Given the description of an element on the screen output the (x, y) to click on. 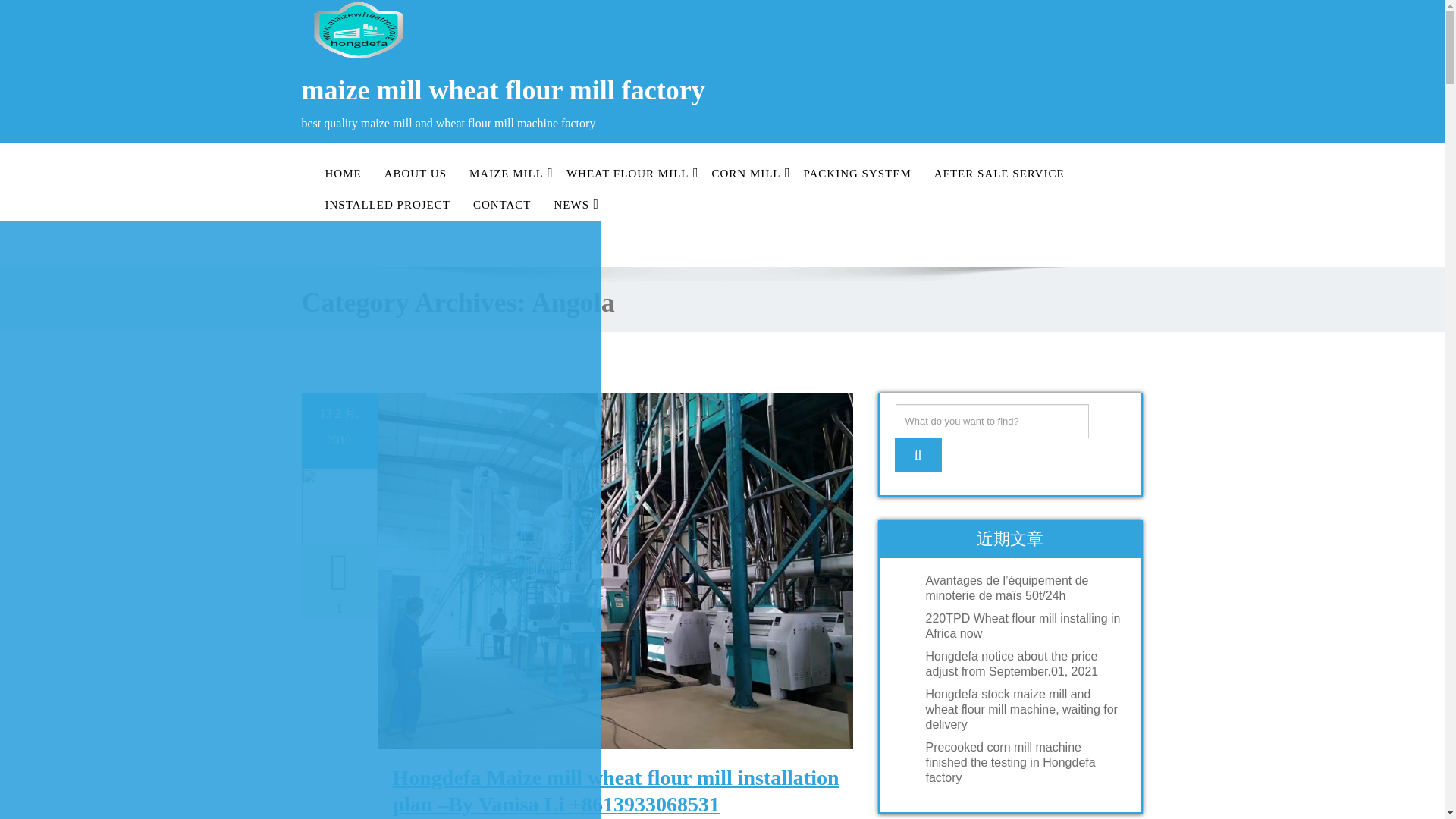
WHEAT FLOUR MILL (627, 173)
WHERE DO NIGERIAN BUY 100T CORN GRINDING MILL? (300, 660)
IMPORTANCE OF WATER REGULATION IN WHEAT RAW GRAIN (300, 414)
INSTALLED PROJECT (387, 204)
HOME (343, 173)
NEWS (572, 204)
CONTACT (502, 204)
WHY CAN EARN BIG PROFITS BY THIS MAIZE MILLING FACTORY? (300, 378)
maize mill wheat flour mill factory (506, 123)
PRICE ADJUST NOTICE (300, 273)
ABOUT US (415, 173)
CORN MILL (746, 173)
maize mill wheat flour mill factory (506, 123)
MAIZE MILL (506, 173)
PACKING SYSTEM (857, 173)
